Given the description of an element on the screen output the (x, y) to click on. 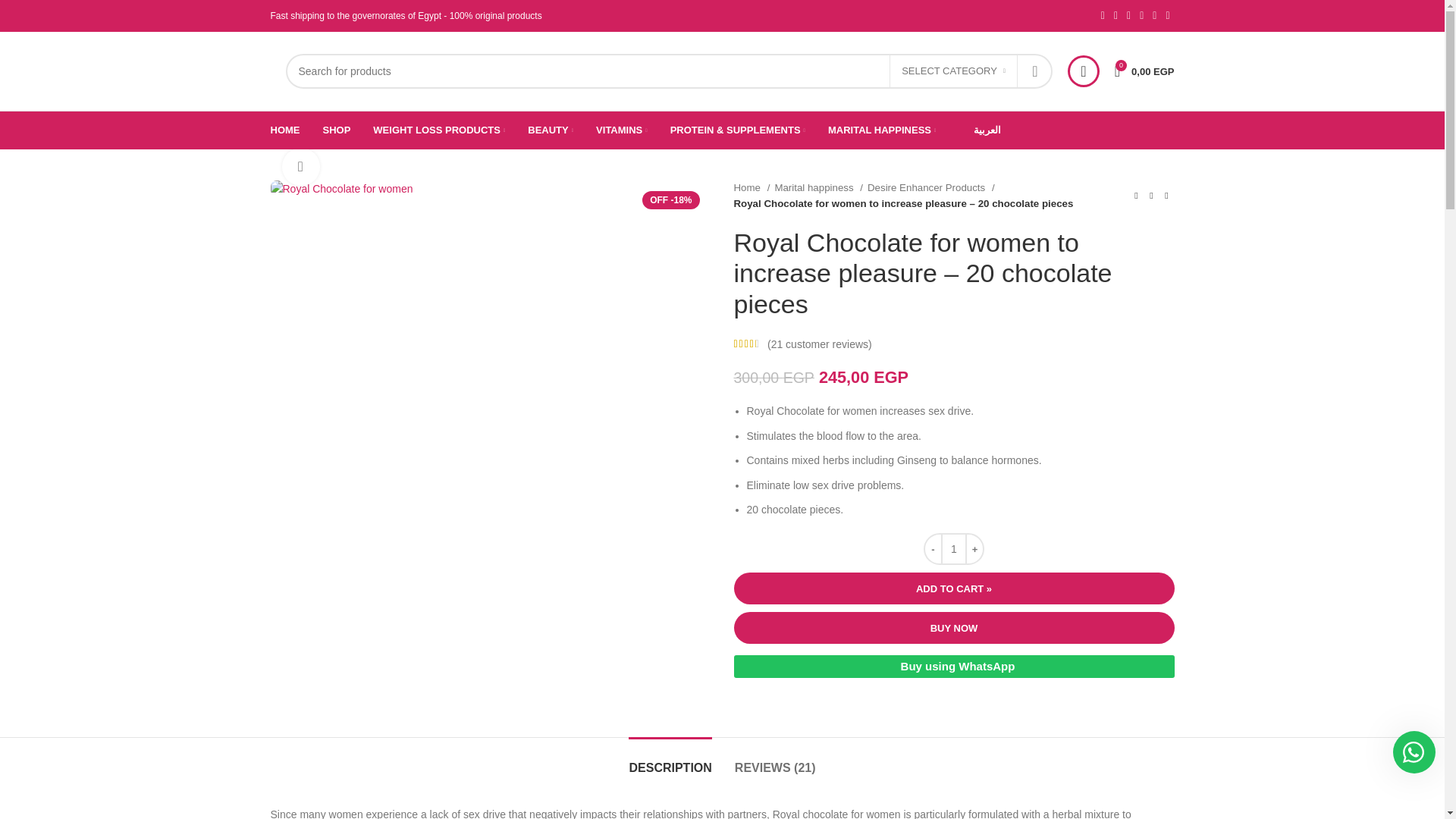
My account (1082, 71)
Search for products (668, 71)
Royal Chocolate for women (340, 188)
Shopping cart (1144, 71)
SELECT CATEGORY (953, 70)
SELECT CATEGORY (953, 70)
